Given the description of an element on the screen output the (x, y) to click on. 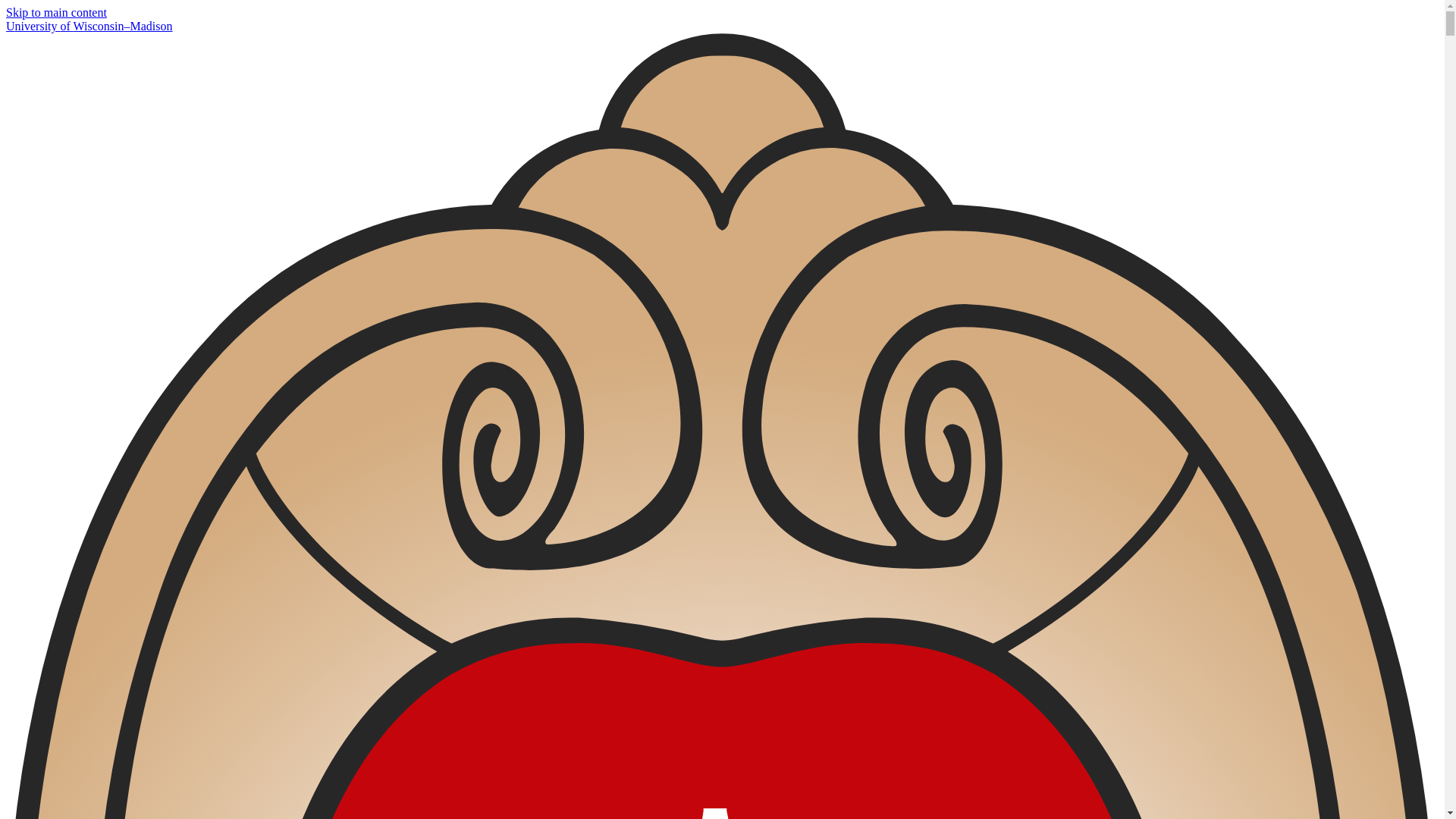
Skip to main content (55, 11)
